Given the description of an element on the screen output the (x, y) to click on. 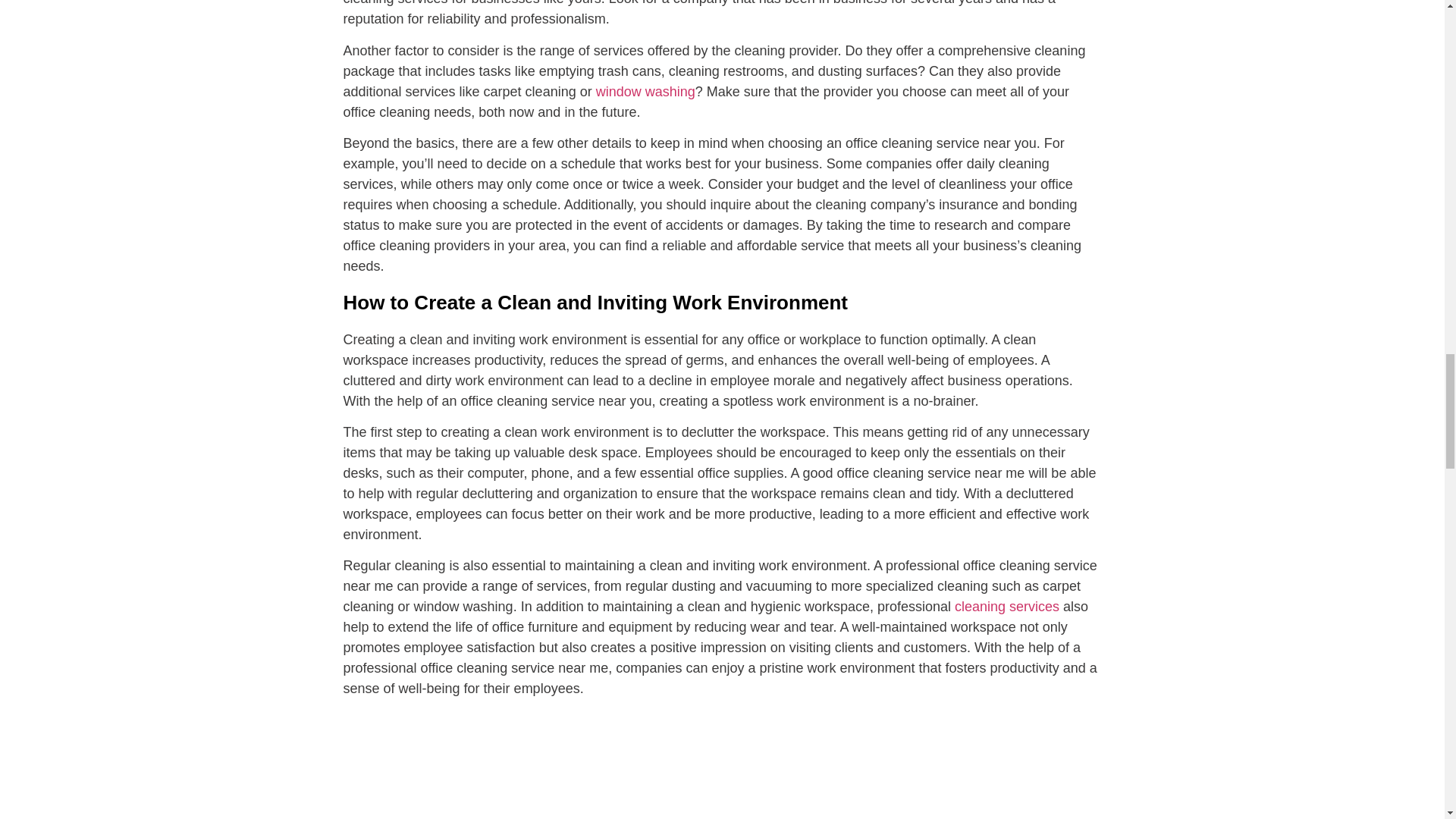
window washing (645, 91)
cleaning services (1007, 606)
